Given the description of an element on the screen output the (x, y) to click on. 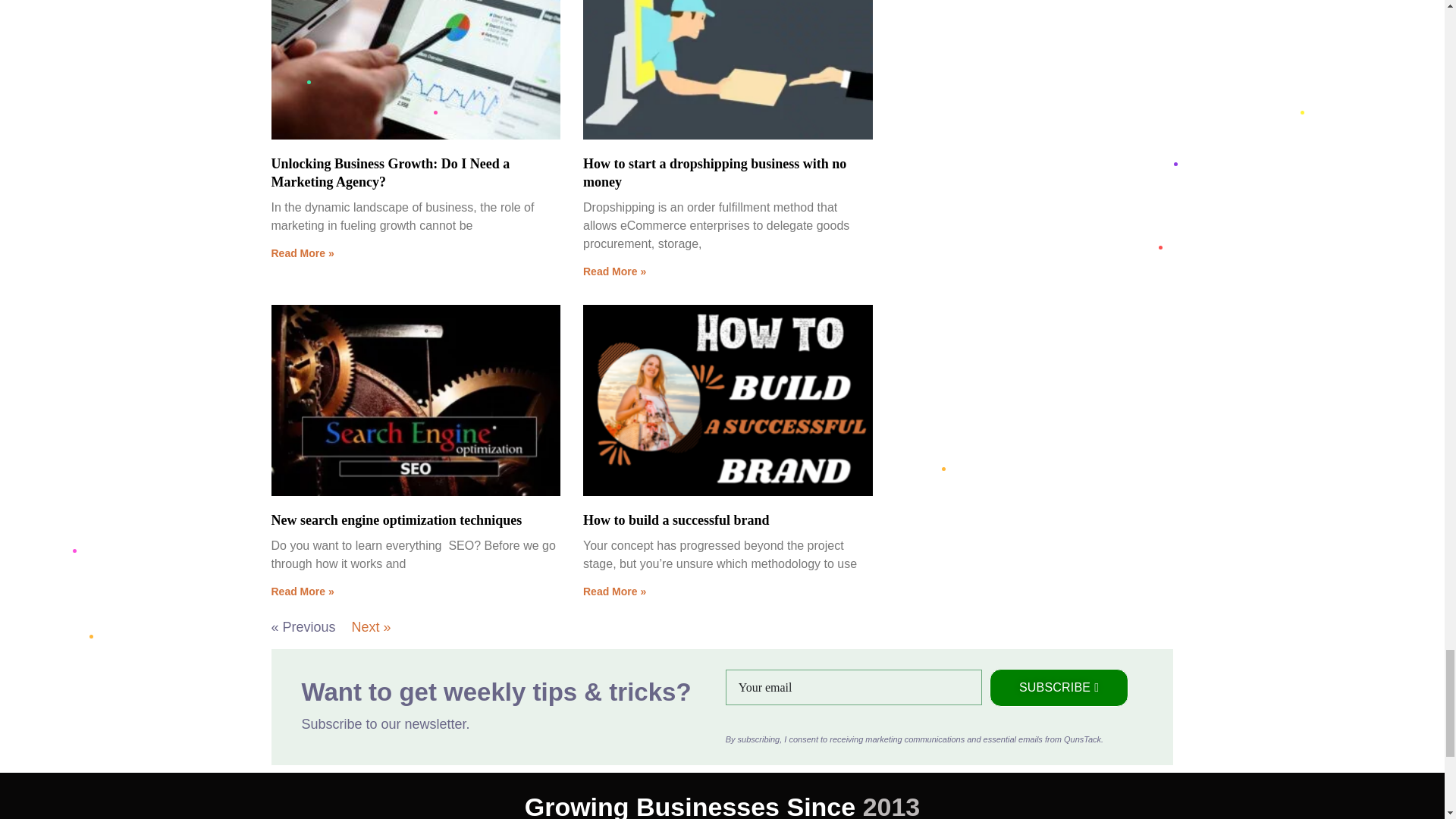
Do I Need a Marketing Agency (414, 69)
New search engine optimization techniques (396, 519)
Unlocking Business Growth: Do I Need a Marketing Agency? (390, 172)
SUBSCRIBE (1059, 687)
How to build a successful brand (676, 519)
How-to-build-a-Successful-brand-2 (725, 398)
How to start a dropshipping business with no money (714, 172)
